Given the description of an element on the screen output the (x, y) to click on. 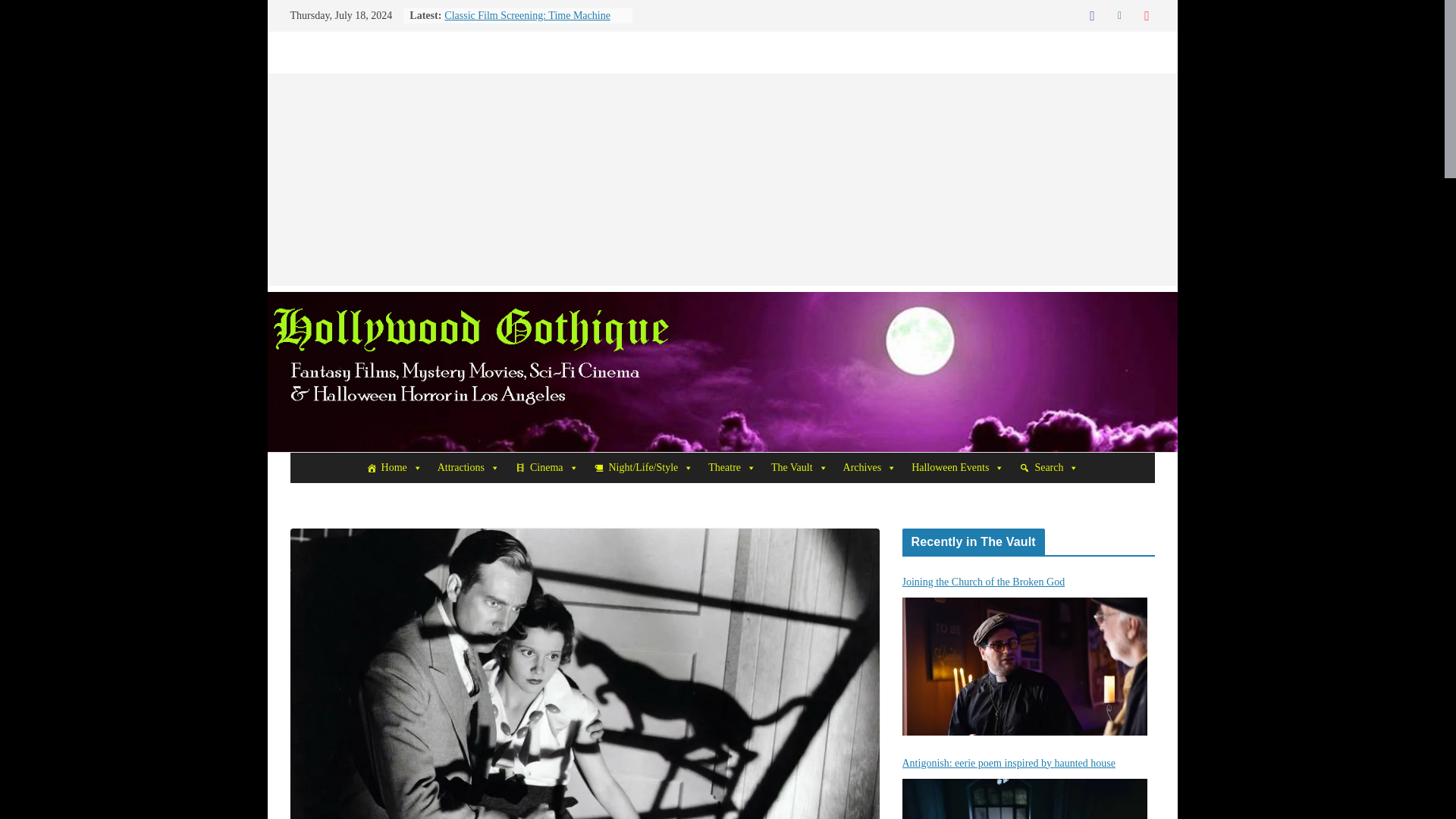
Classic Film Screening: Time Machine (527, 15)
Cinema (546, 467)
Attractions (467, 467)
Home (393, 467)
Classic Film Screening: Time Machine (527, 15)
